Given the description of an element on the screen output the (x, y) to click on. 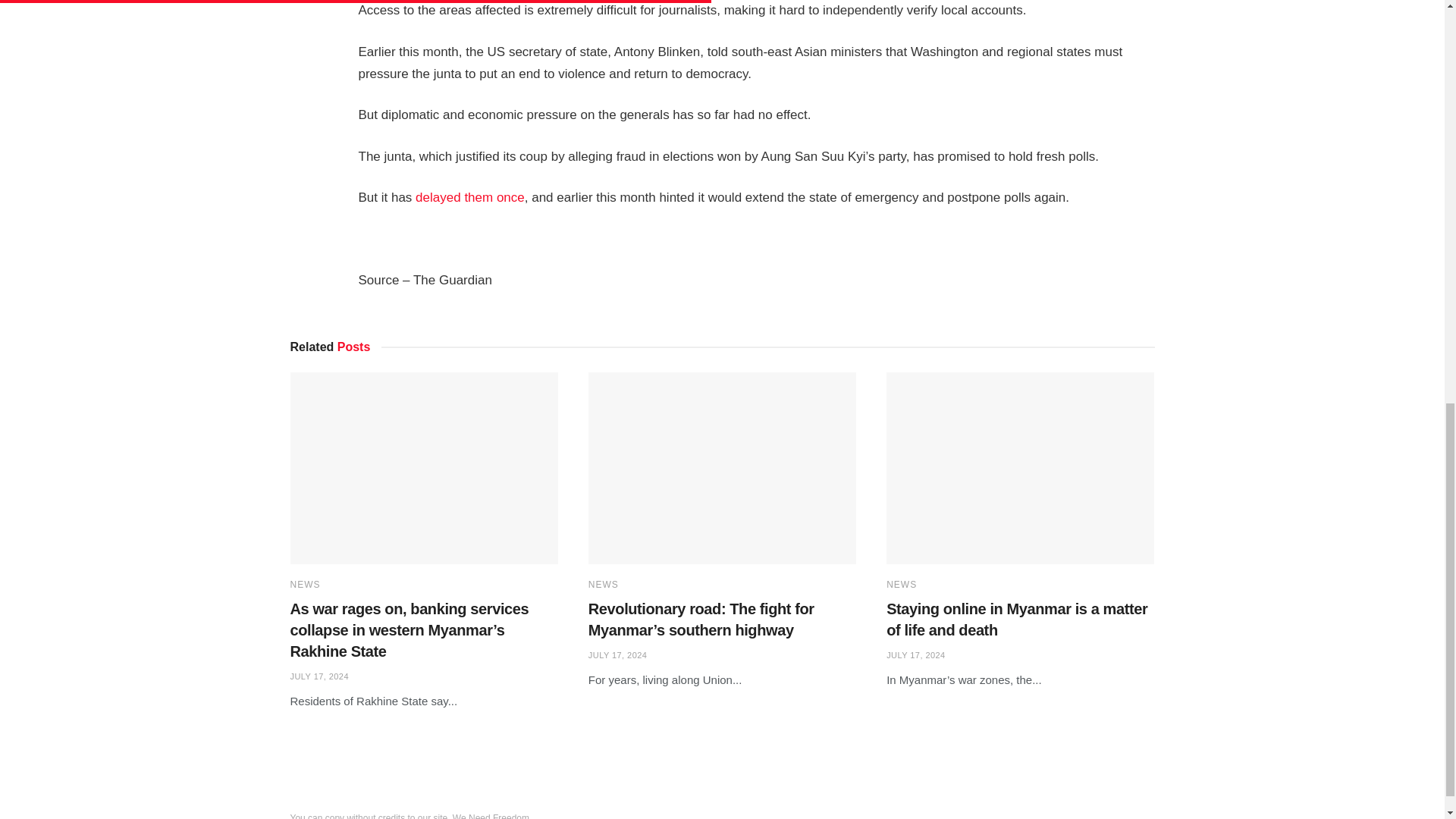
delayed them once (469, 197)
